Given the description of an element on the screen output the (x, y) to click on. 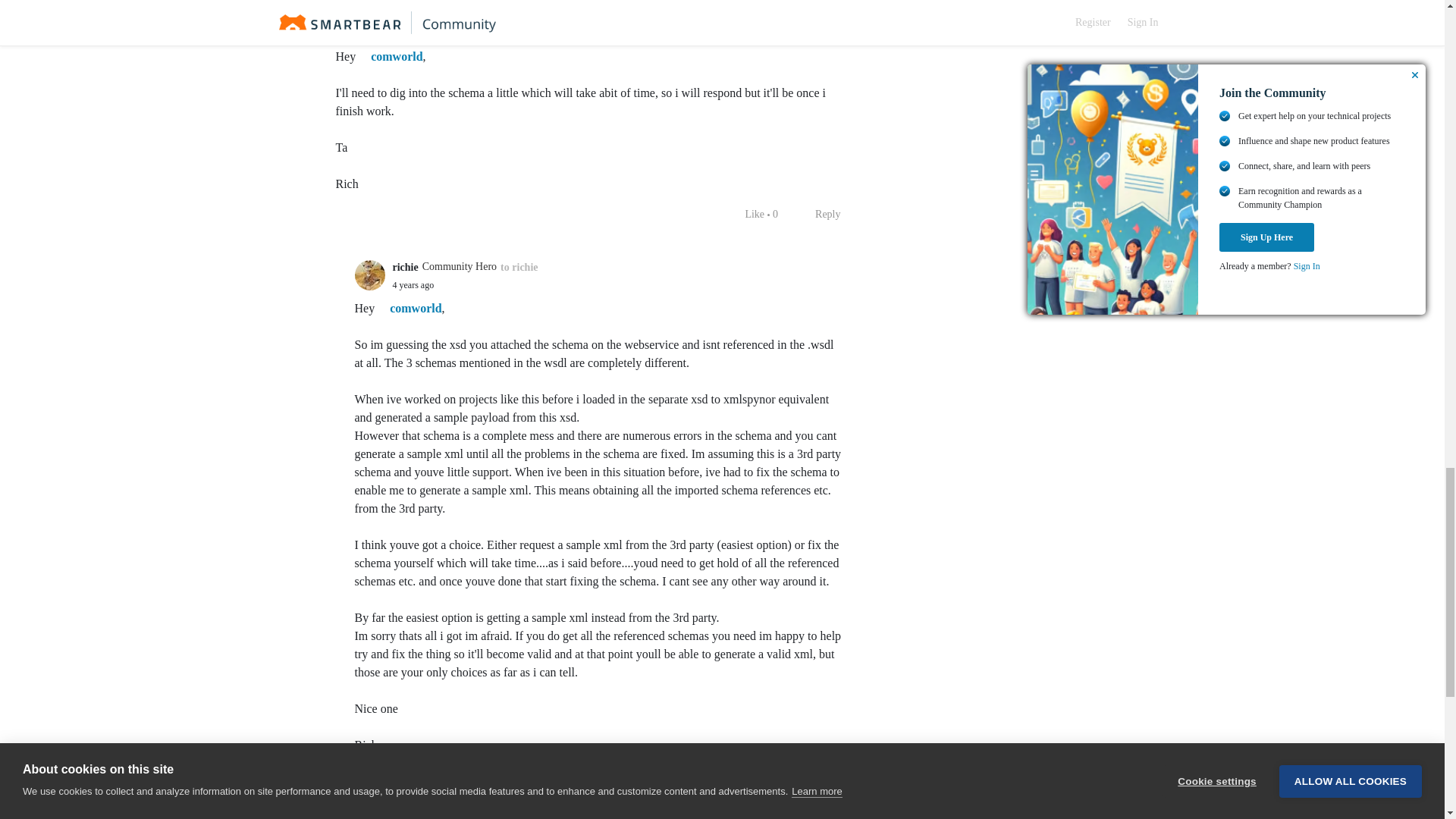
February 24, 2021 at 2:17 AM (413, 285)
February 23, 2021 at 3:08 PM (393, 32)
